Given the description of an element on the screen output the (x, y) to click on. 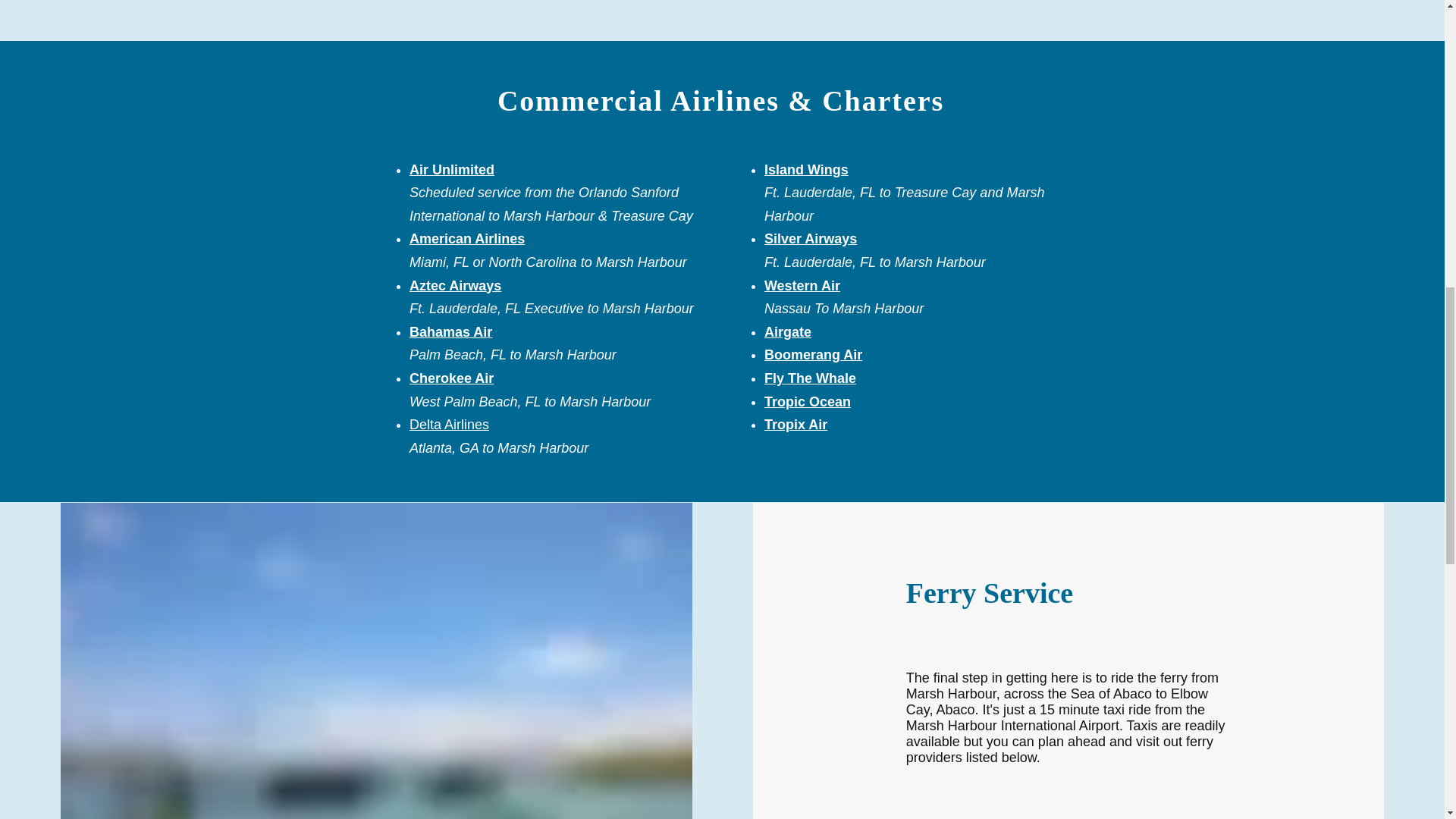
Aztec Airways (454, 285)
Delta Airlines (449, 424)
Boomerang Air (812, 354)
Western Air (802, 285)
Island Wings (806, 169)
American Airlines (466, 238)
Tropix Air (795, 424)
Fly The Whale (810, 378)
Air Unlimited (452, 169)
Bahamas Air (450, 331)
Cherokee Air (451, 378)
Tropic Ocean (807, 401)
Silver Airways (810, 238)
Airgate (787, 331)
